Given the description of an element on the screen output the (x, y) to click on. 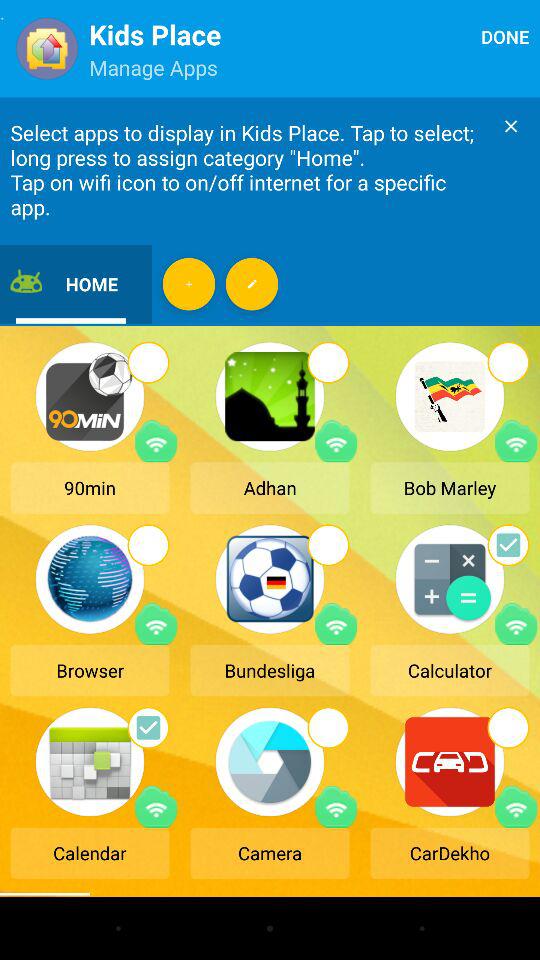
turn on or off internet for app (336, 441)
